Given the description of an element on the screen output the (x, y) to click on. 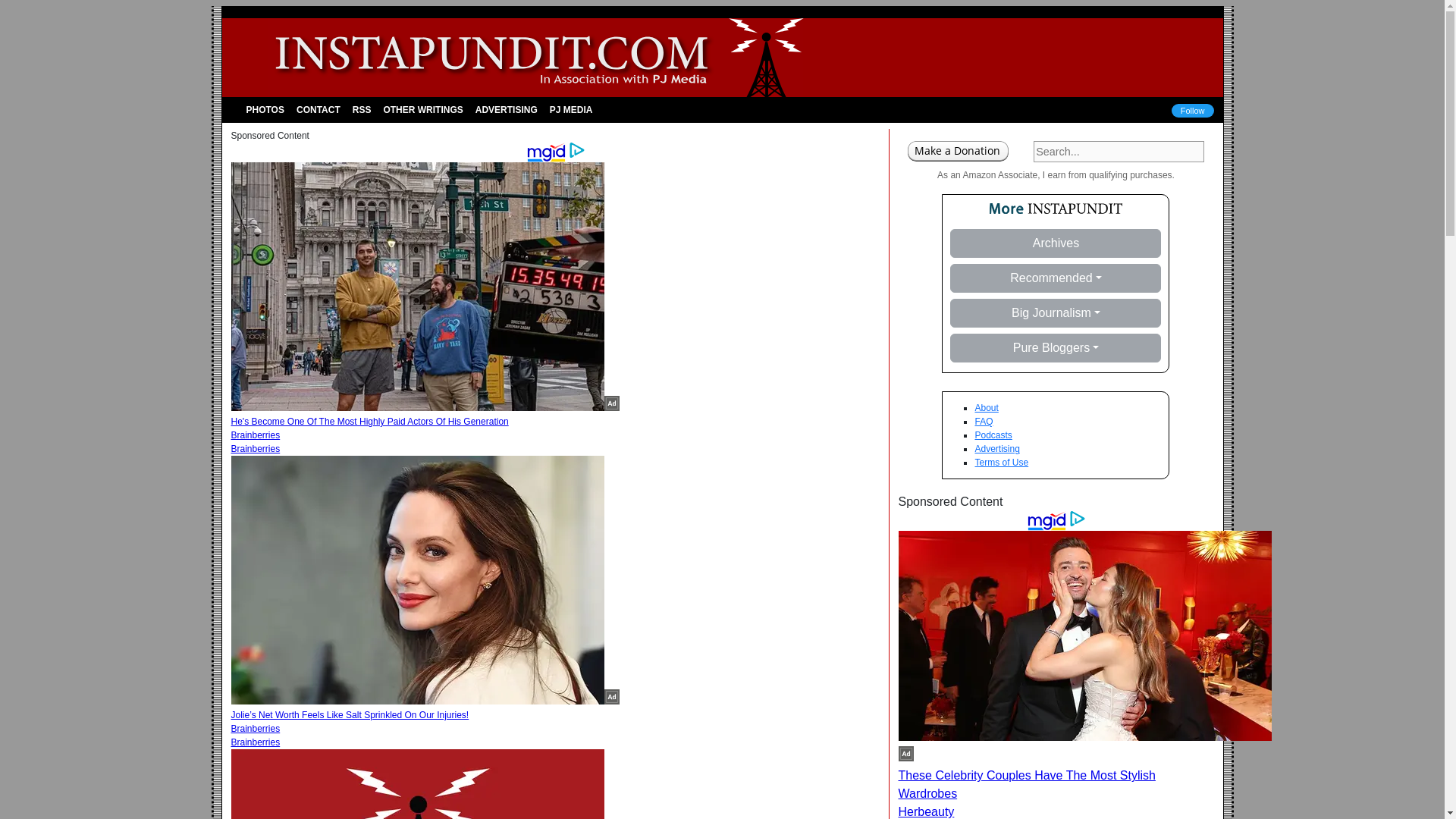
OTHER WRITINGS (422, 109)
Photos (264, 109)
Follow (1193, 110)
PJ Media (570, 109)
PHOTOS (264, 109)
Archives (1055, 243)
ADVERTISING (505, 109)
CONTACT (317, 109)
Advertising (505, 109)
PJ MEDIA (570, 109)
Other Writings (422, 109)
RSS (361, 109)
RSS (361, 109)
Recommended (1055, 277)
Contact (317, 109)
